Given the description of an element on the screen output the (x, y) to click on. 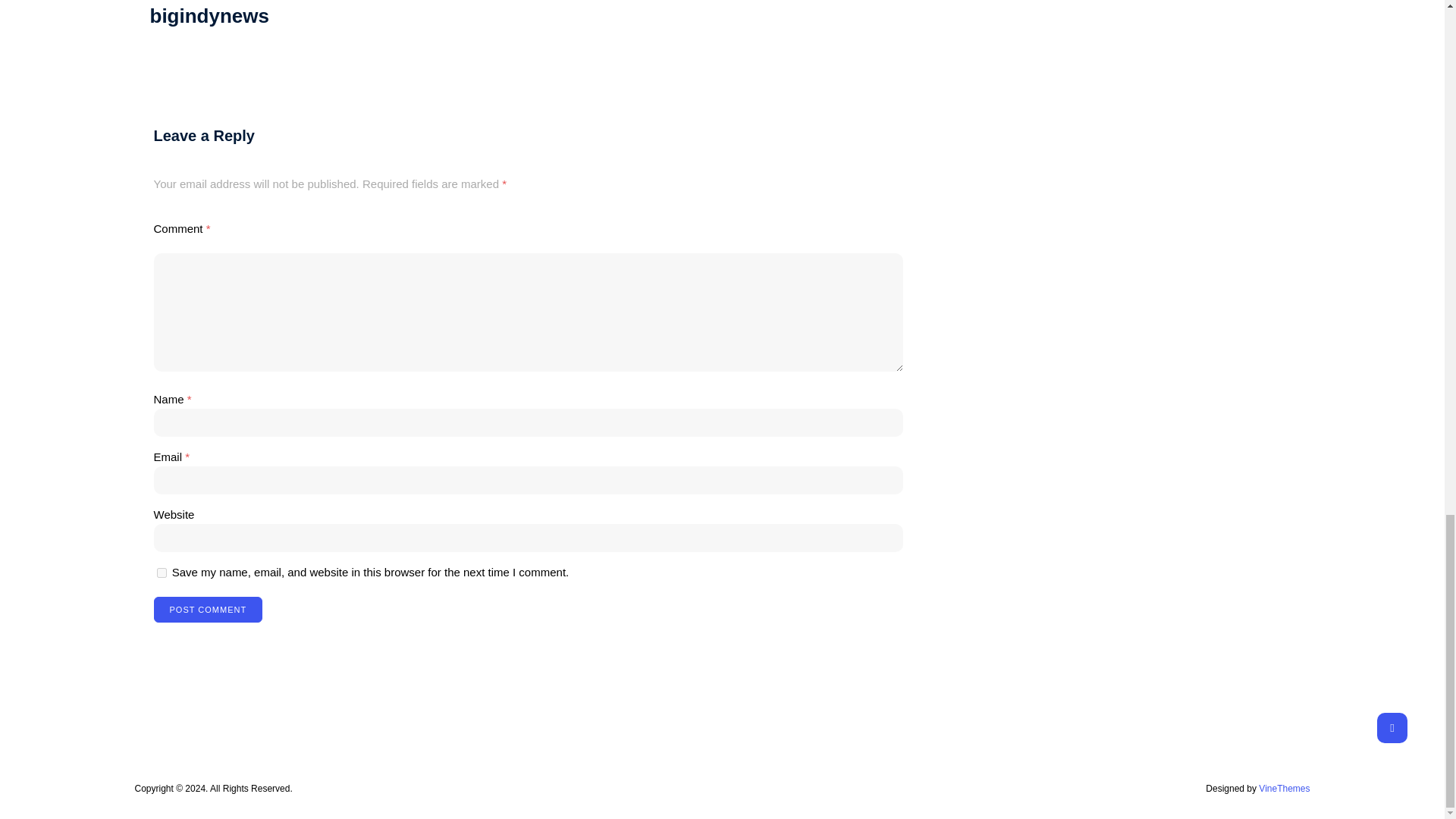
VineThemes (1283, 787)
bigindynews (209, 15)
Post Comment (207, 609)
yes (160, 573)
Post Comment (207, 609)
